Given the description of an element on the screen output the (x, y) to click on. 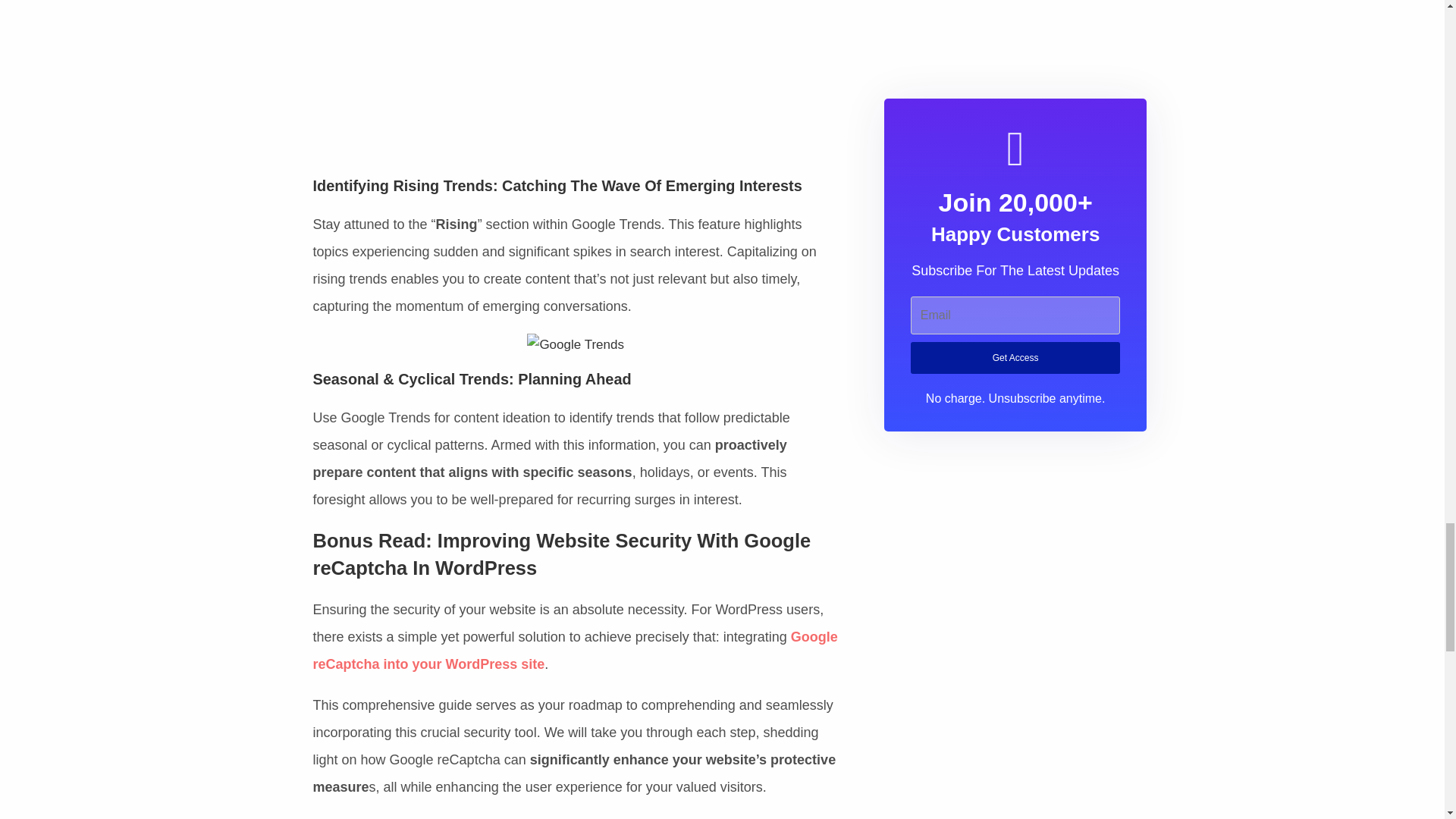
Google reCaptcha into your WordPress site (575, 650)
